Given the description of an element on the screen output the (x, y) to click on. 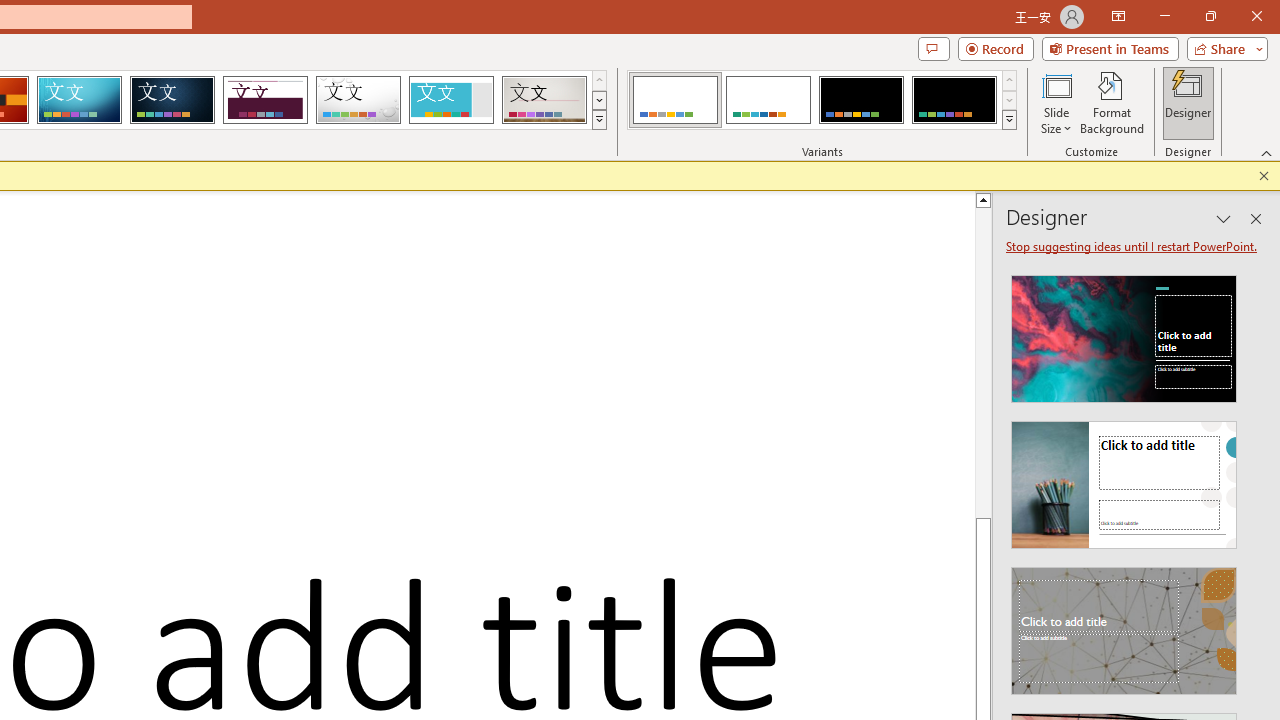
Design Idea (1124, 624)
Format Background (1111, 102)
Recommended Design: Design Idea (1124, 332)
Office Theme Variant 2 (768, 100)
Themes (598, 120)
Turn off Designer for this session. (1133, 246)
Frame (450, 100)
Dividend (265, 100)
AutomationID: ThemeVariantsGallery (822, 99)
Variants (1009, 120)
